Given the description of an element on the screen output the (x, y) to click on. 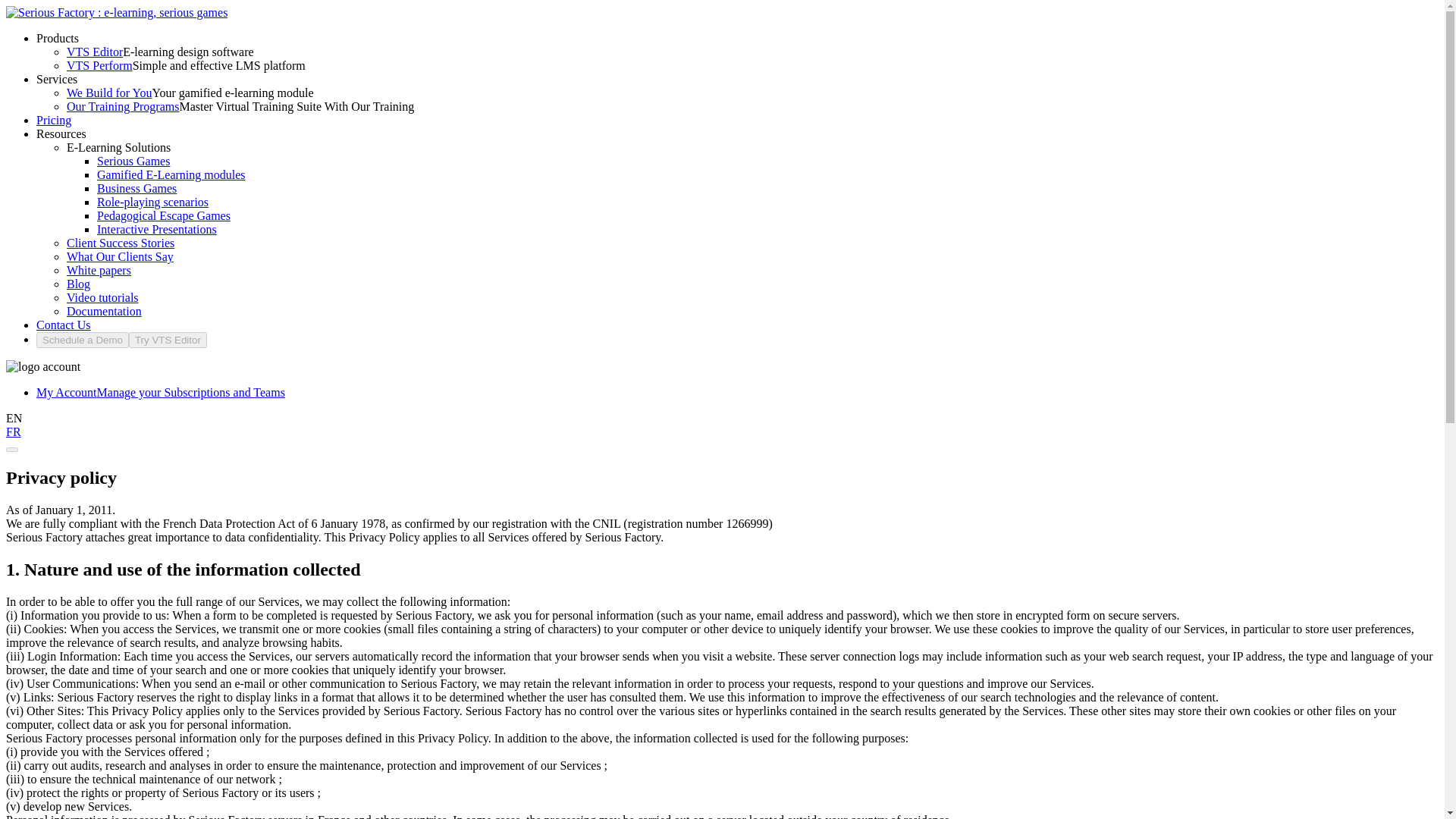
Pricing (53, 119)
We Build for You (109, 92)
Browse our other customer testimonials (119, 256)
Schedule a Demo (82, 338)
Our Training Programs (122, 106)
What Our Clients Say (119, 256)
Video tutorials (102, 297)
